Given the description of an element on the screen output the (x, y) to click on. 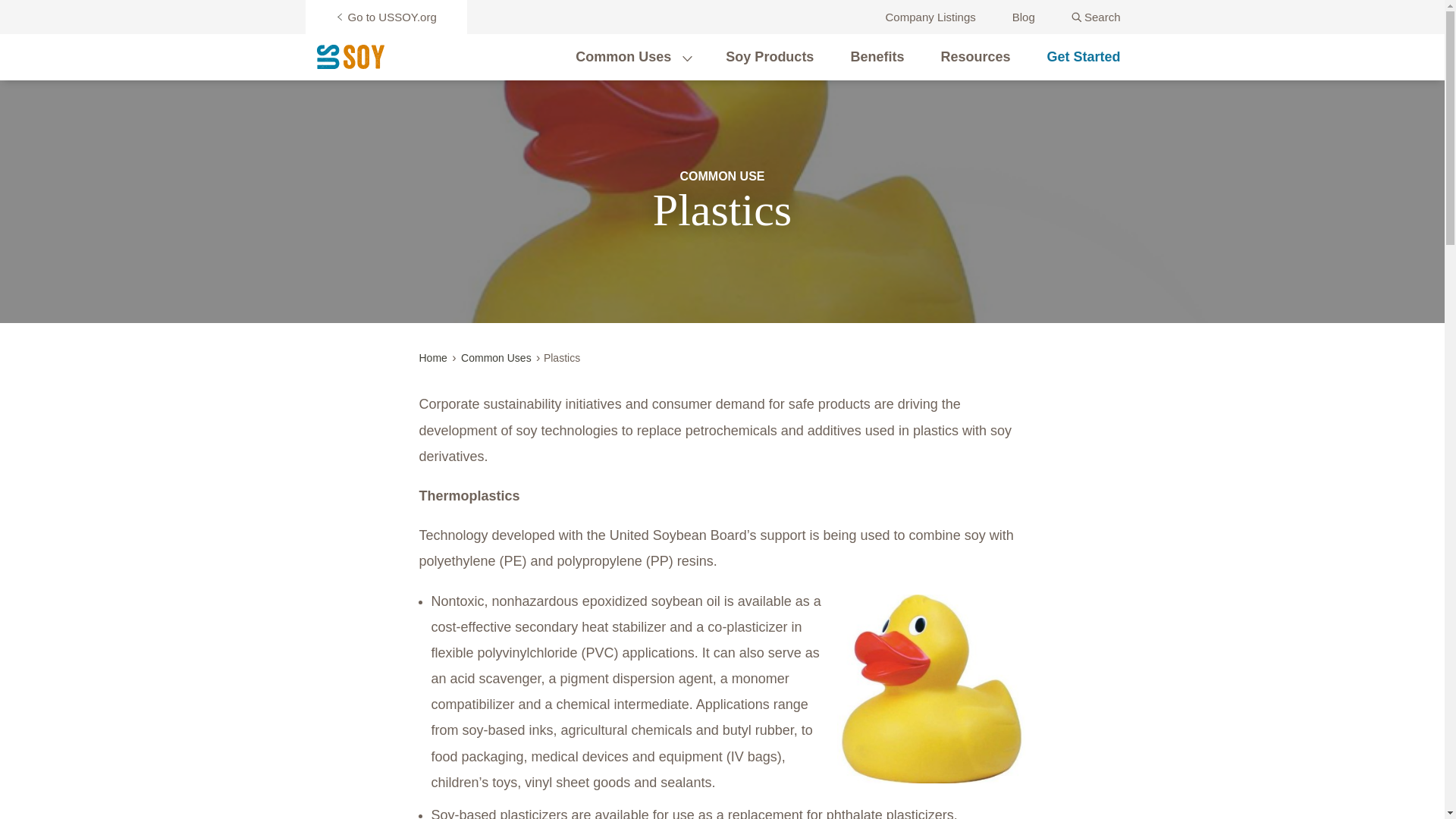
Search (1096, 17)
Go to USSOY.org (384, 17)
Soy Products (769, 56)
Blog (1023, 16)
Company Listings (930, 16)
Common Uses (623, 56)
Benefits (877, 56)
Resources (975, 56)
Get Started (1082, 56)
